Given the description of an element on the screen output the (x, y) to click on. 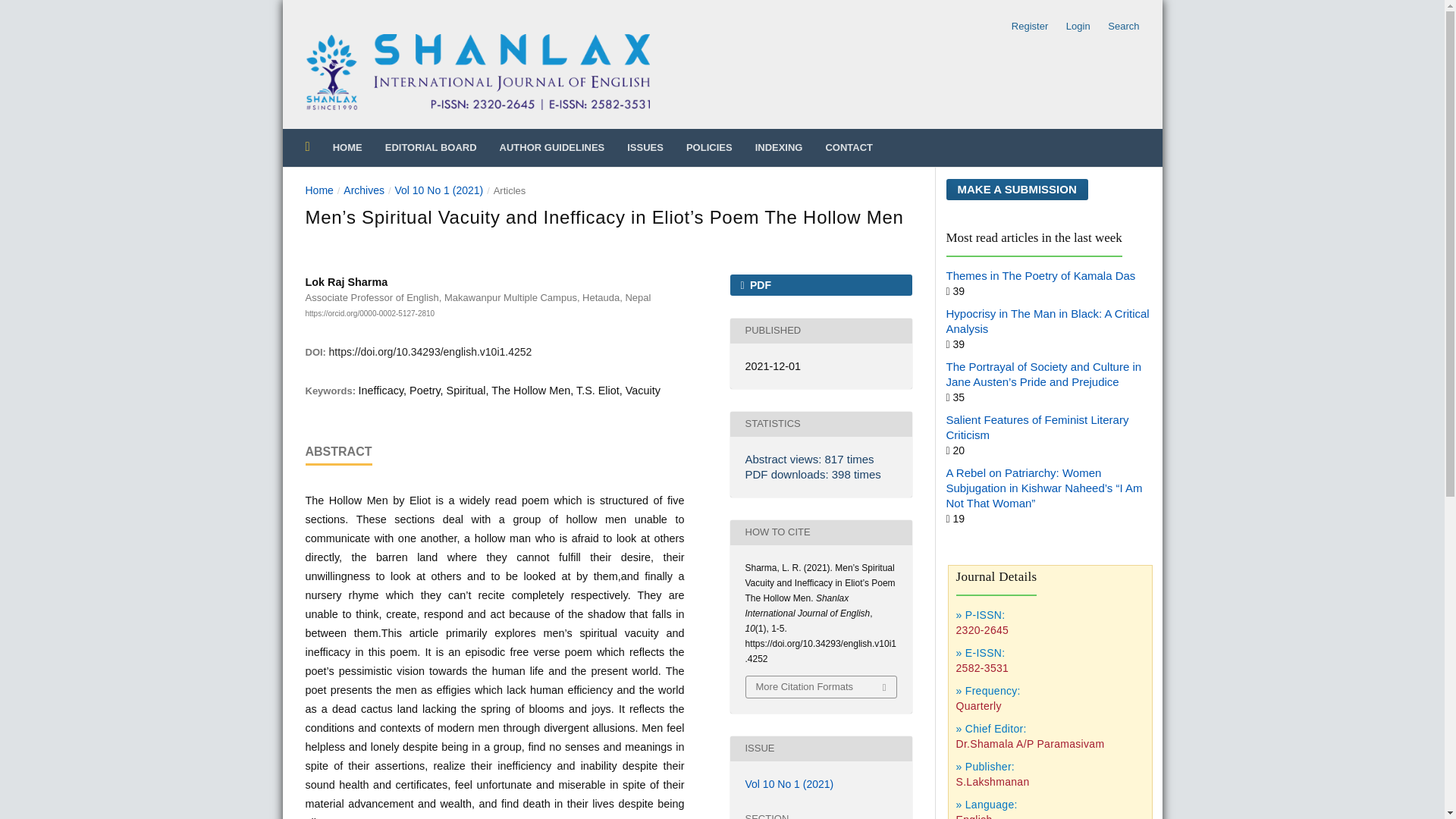
AUTHOR GUIDELINES (552, 147)
HOME (347, 147)
Home (318, 190)
ISSUES (645, 147)
CONTACT (848, 147)
PDF (820, 284)
Search (1119, 26)
EDITORIAL BOARD (431, 147)
More Citation Formats (820, 686)
Login (1077, 26)
